Given the description of an element on the screen output the (x, y) to click on. 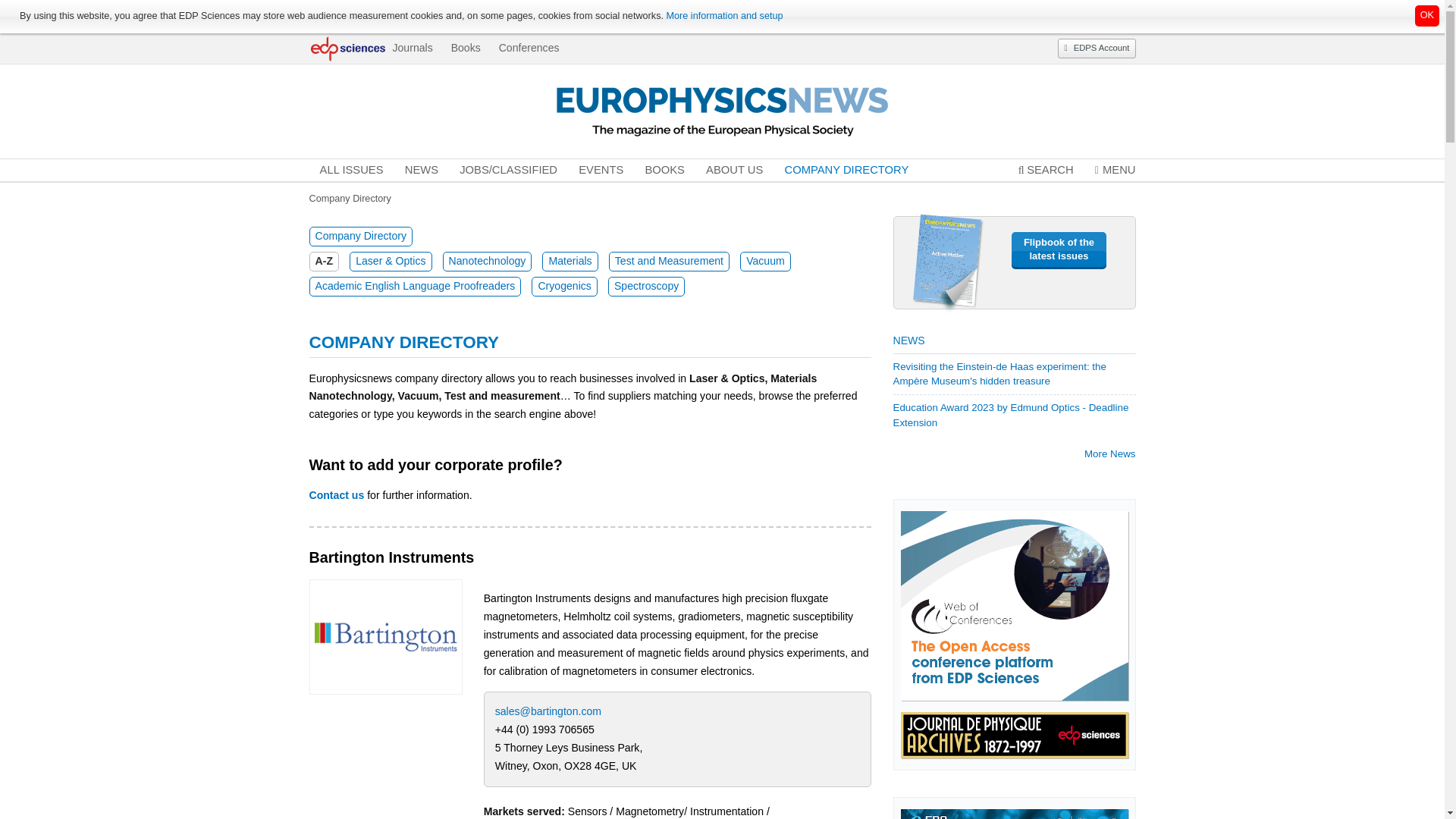
Journals (411, 47)
Access the website (385, 635)
OK (1427, 15)
Conferences (529, 47)
Europhysics News homepage (722, 110)
Books (465, 47)
More information and setup (724, 15)
Display the search engine (1045, 170)
Click to close this notification (1427, 15)
ALL ISSUES (351, 169)
